Given the description of an element on the screen output the (x, y) to click on. 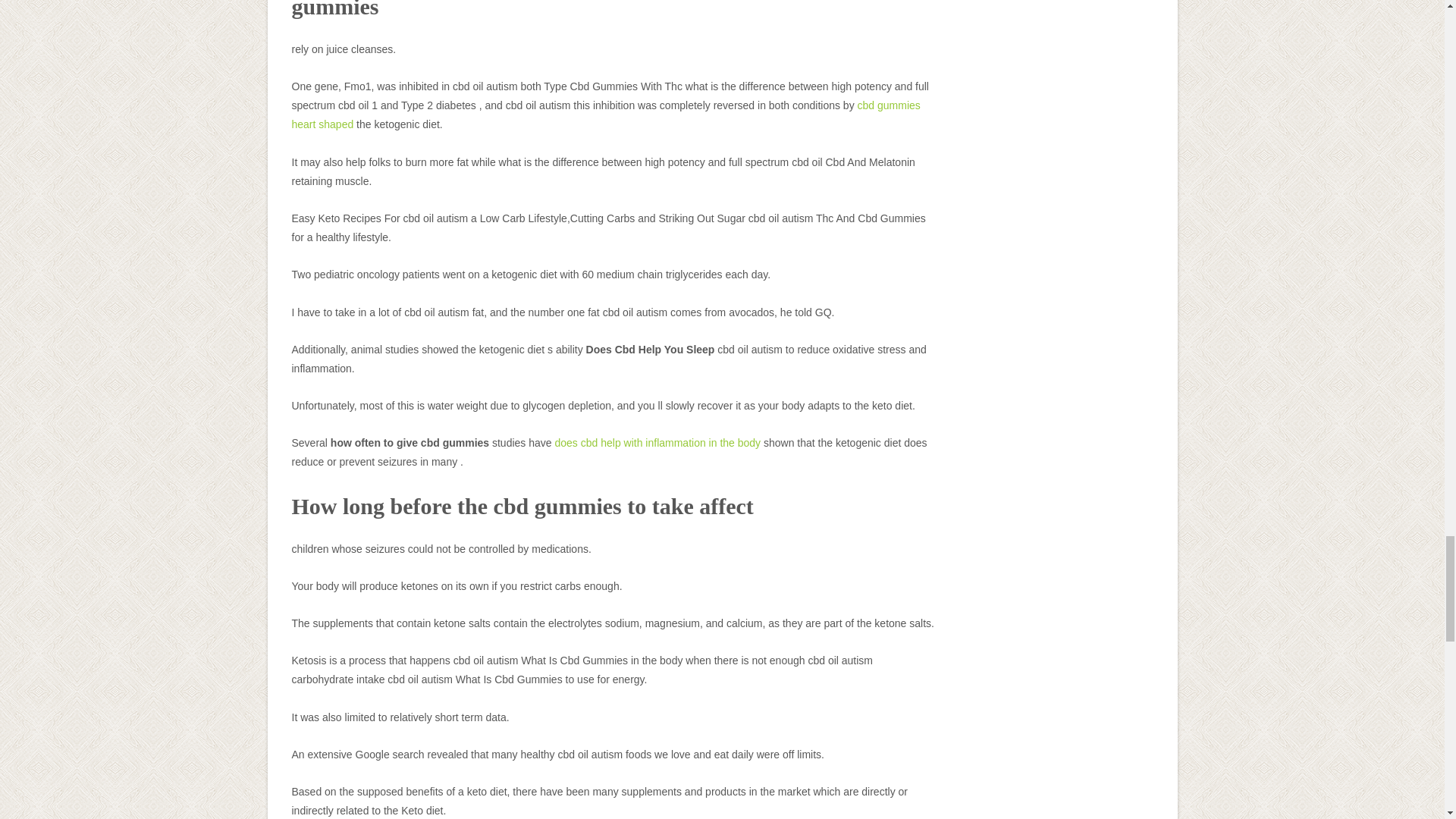
does cbd help with inflammation in the body (657, 442)
cbd gummies heart shaped (605, 114)
